Given the description of an element on the screen output the (x, y) to click on. 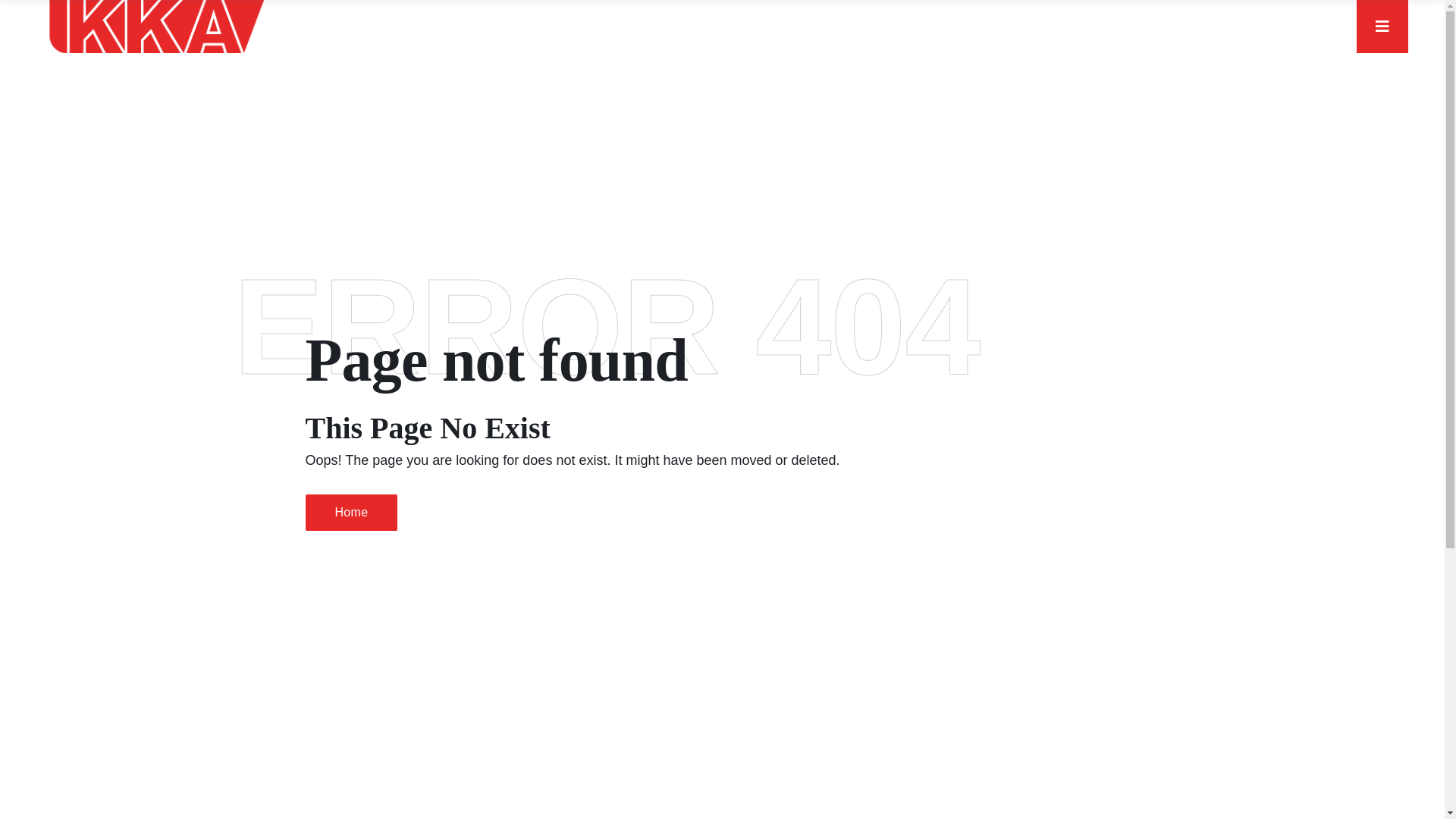
Home Element type: text (350, 512)
